Given the description of an element on the screen output the (x, y) to click on. 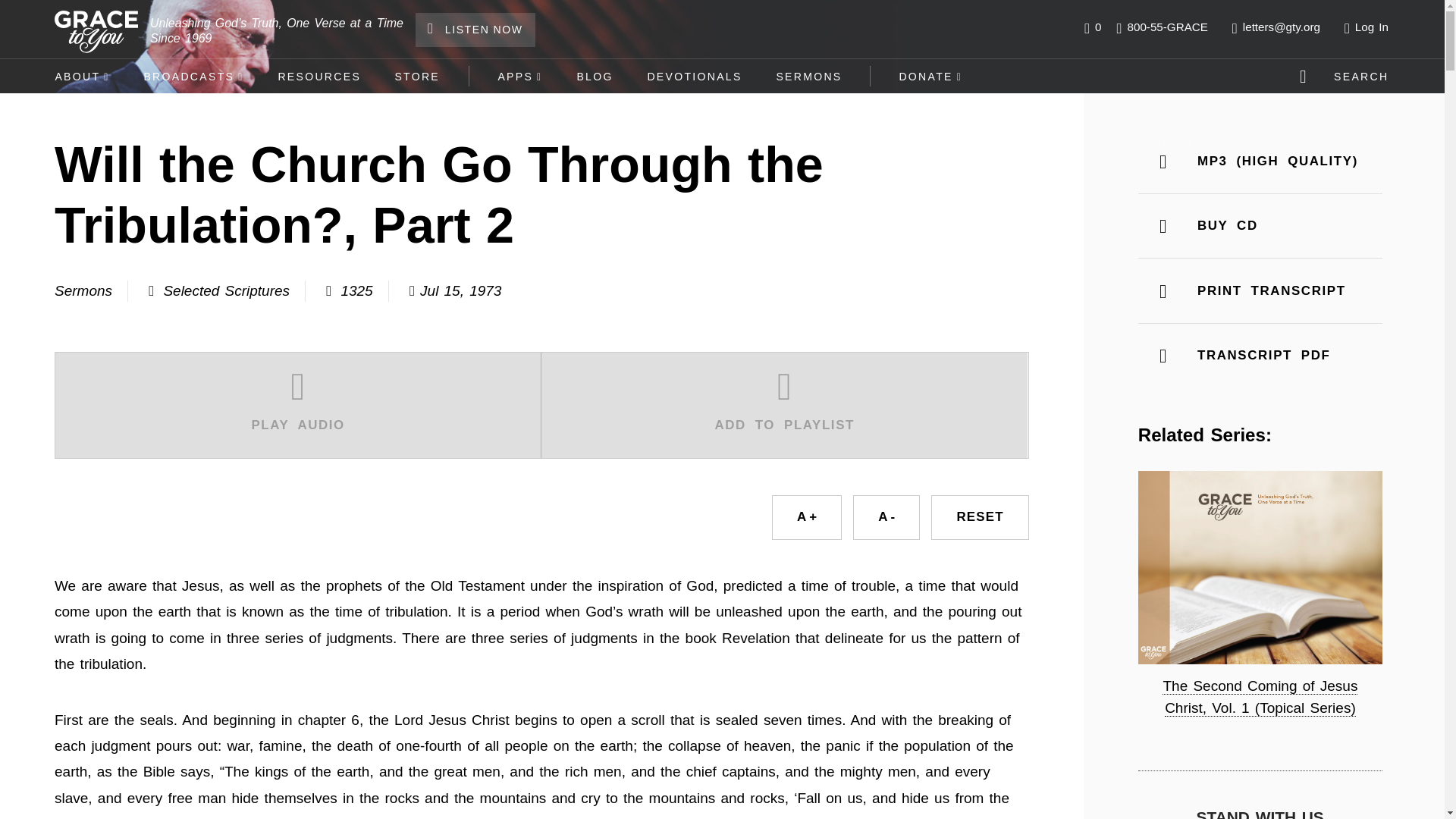
RESOURCES (318, 76)
Grace-to-You (96, 32)
ABOUT (81, 76)
BLOG (594, 76)
BROADCASTS (193, 76)
Grace to You (1174, 148)
APPS (519, 76)
LISTEN NOW (474, 29)
Log In (1369, 28)
SEARCH (1347, 76)
